Given the description of an element on the screen output the (x, y) to click on. 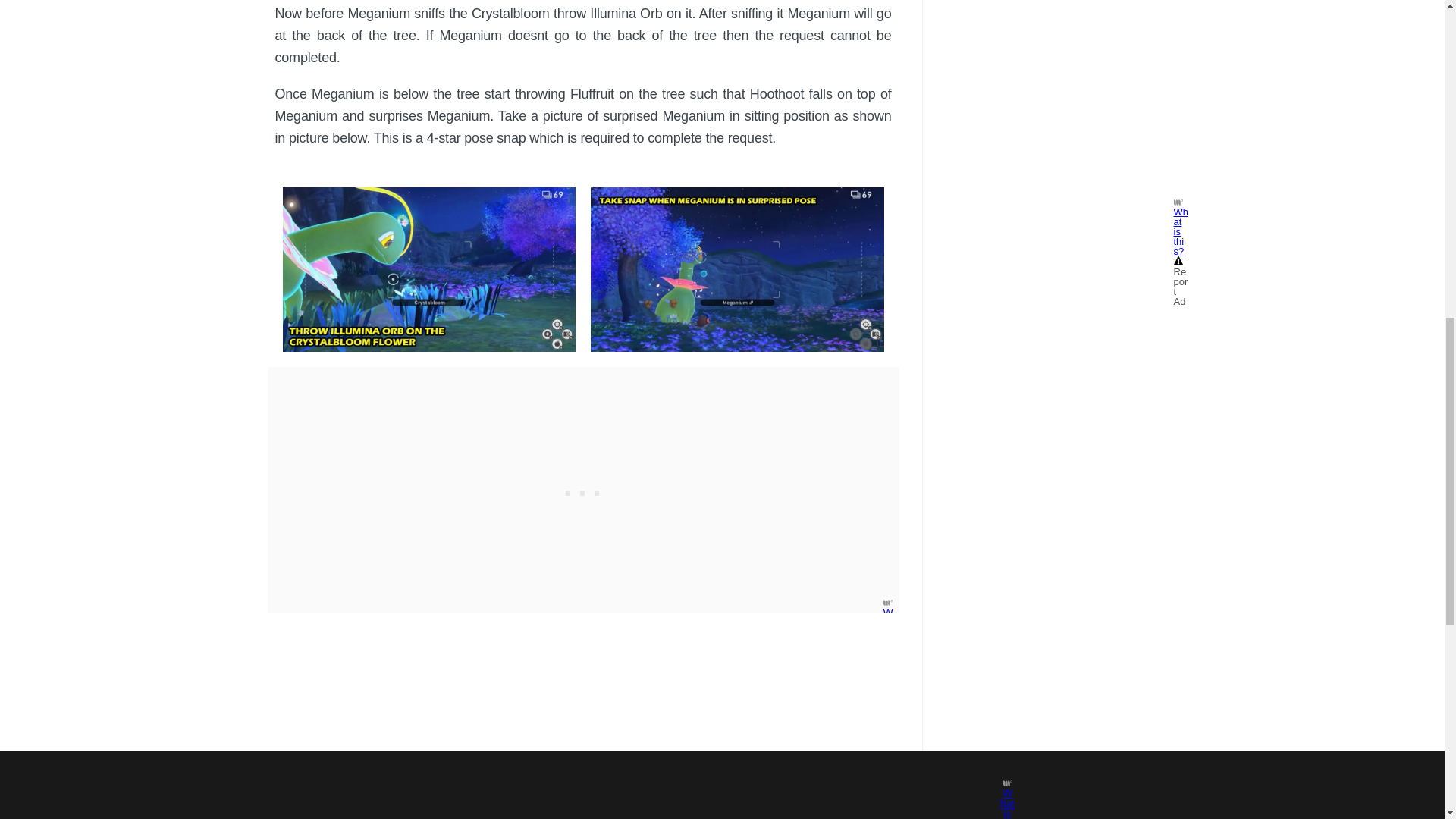
3rd party ad content (583, 489)
